Given the description of an element on the screen output the (x, y) to click on. 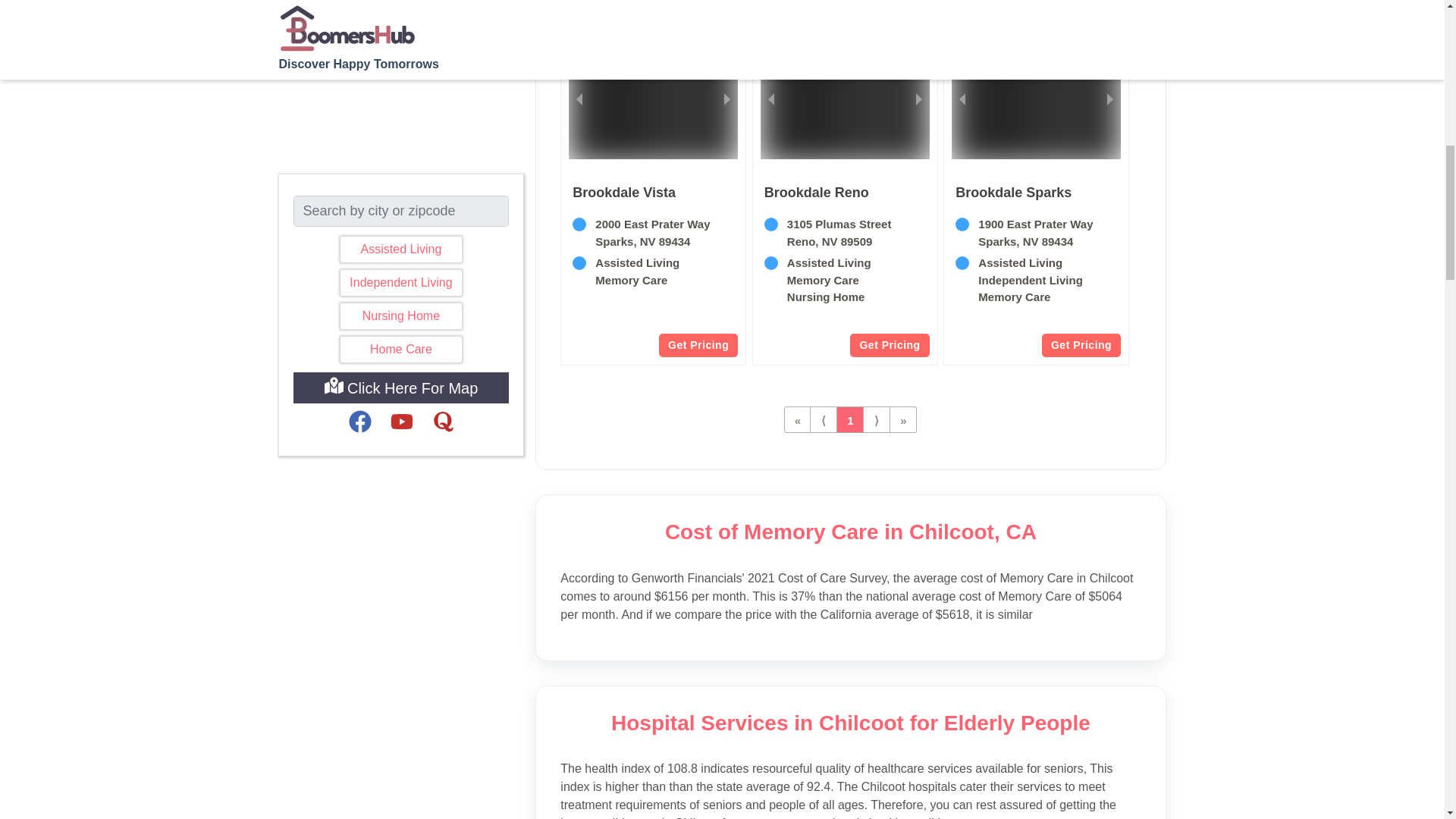
Brookdale Sparks,Sparks,NV (1013, 192)
Get Pricing (1081, 345)
Brookdale Vista,Sparks,NV (653, 269)
Get Pricing (889, 345)
Brookdale Sparks,Sparks,NV (1036, 269)
Brookdale Vista,Sparks,NV (623, 192)
Get Pricing (698, 345)
Brookdale Reno,Reno,NV (845, 269)
1 (850, 419)
Brookdale Reno,Reno,NV (816, 192)
